Given the description of an element on the screen output the (x, y) to click on. 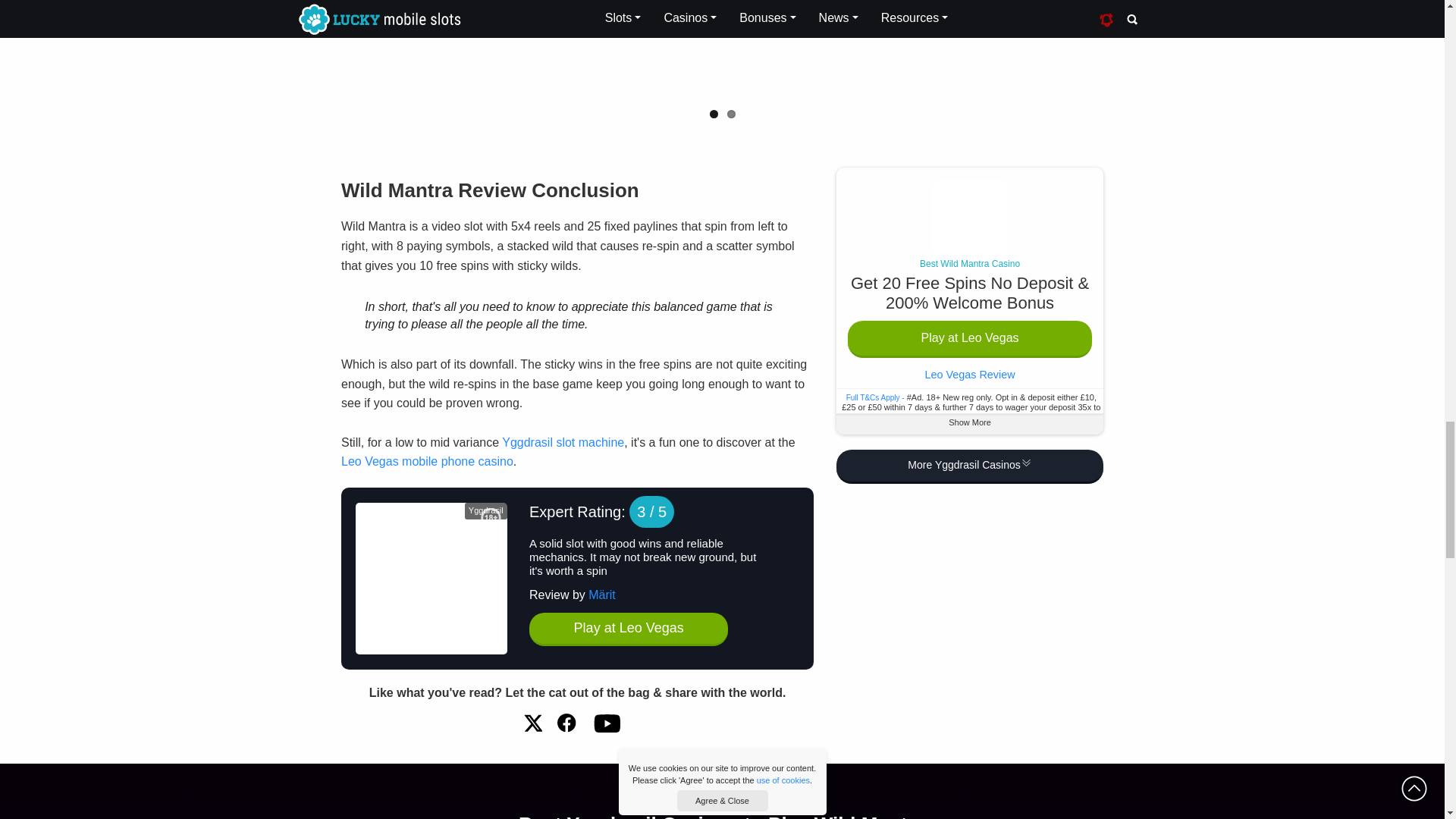
Yggdrasil Slot Machines (563, 441)
Tweet it Feline Friend! (531, 722)
LeoVegas Casino Review (426, 461)
LMS Slot Videos (606, 722)
More Yggdrasil Casinos (969, 466)
Share The Wealth (566, 722)
